Given the description of an element on the screen output the (x, y) to click on. 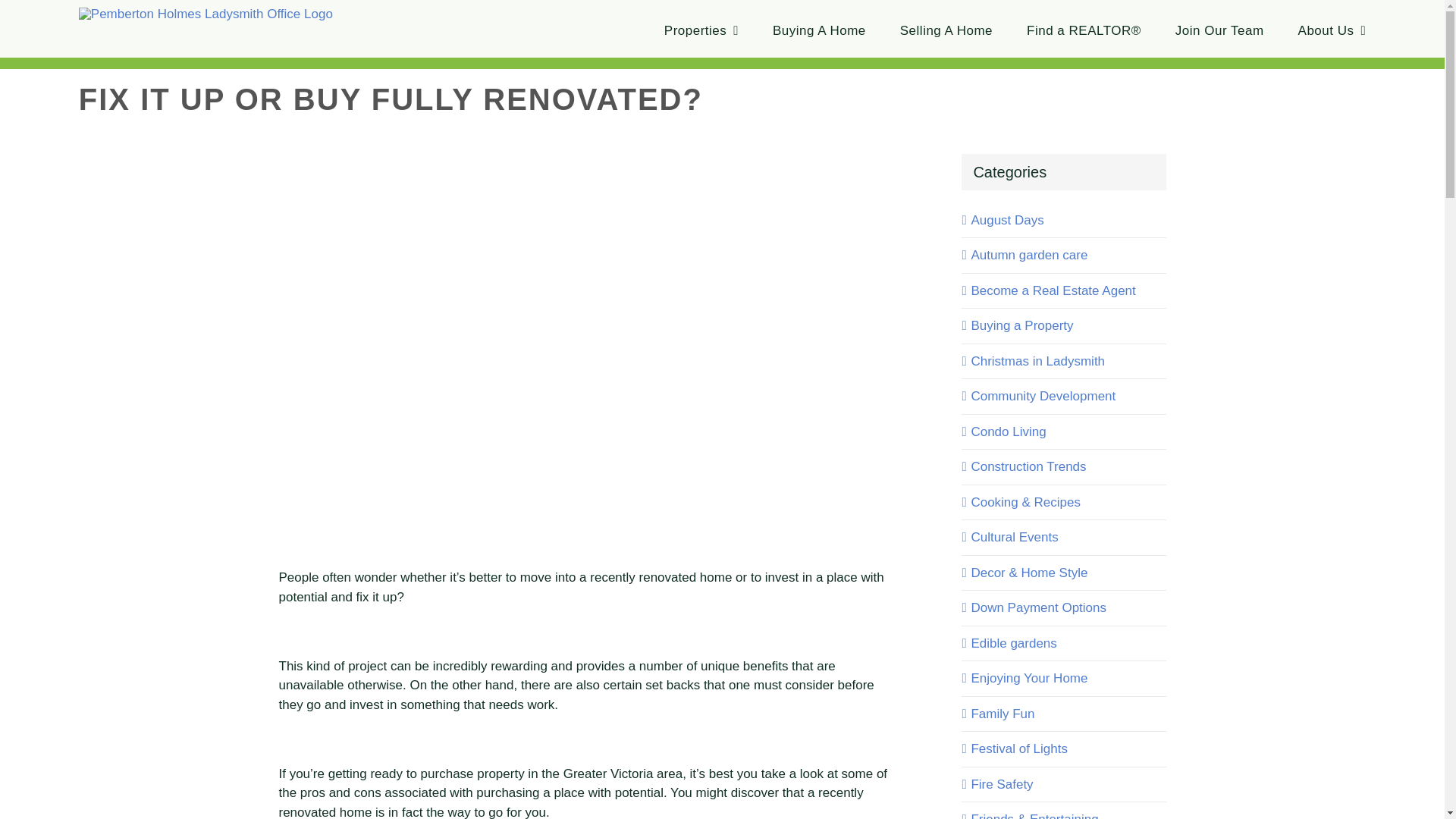
Buying A Home (819, 30)
Properties (700, 30)
Join Our Team (1218, 30)
About Us (1332, 30)
Selling A Home (945, 30)
